Given the description of an element on the screen output the (x, y) to click on. 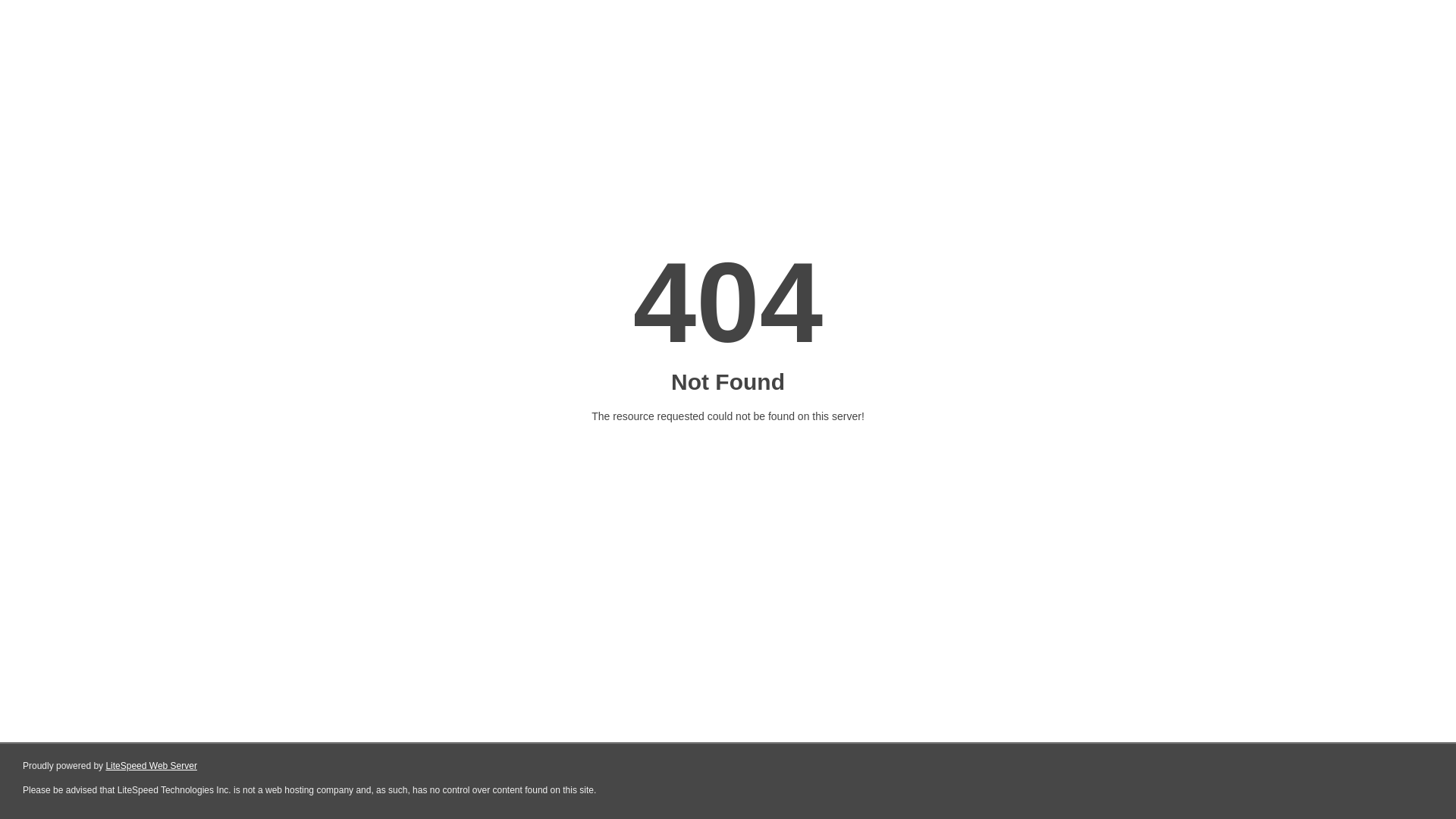
LiteSpeed Web Server Element type: text (151, 765)
